Given the description of an element on the screen output the (x, y) to click on. 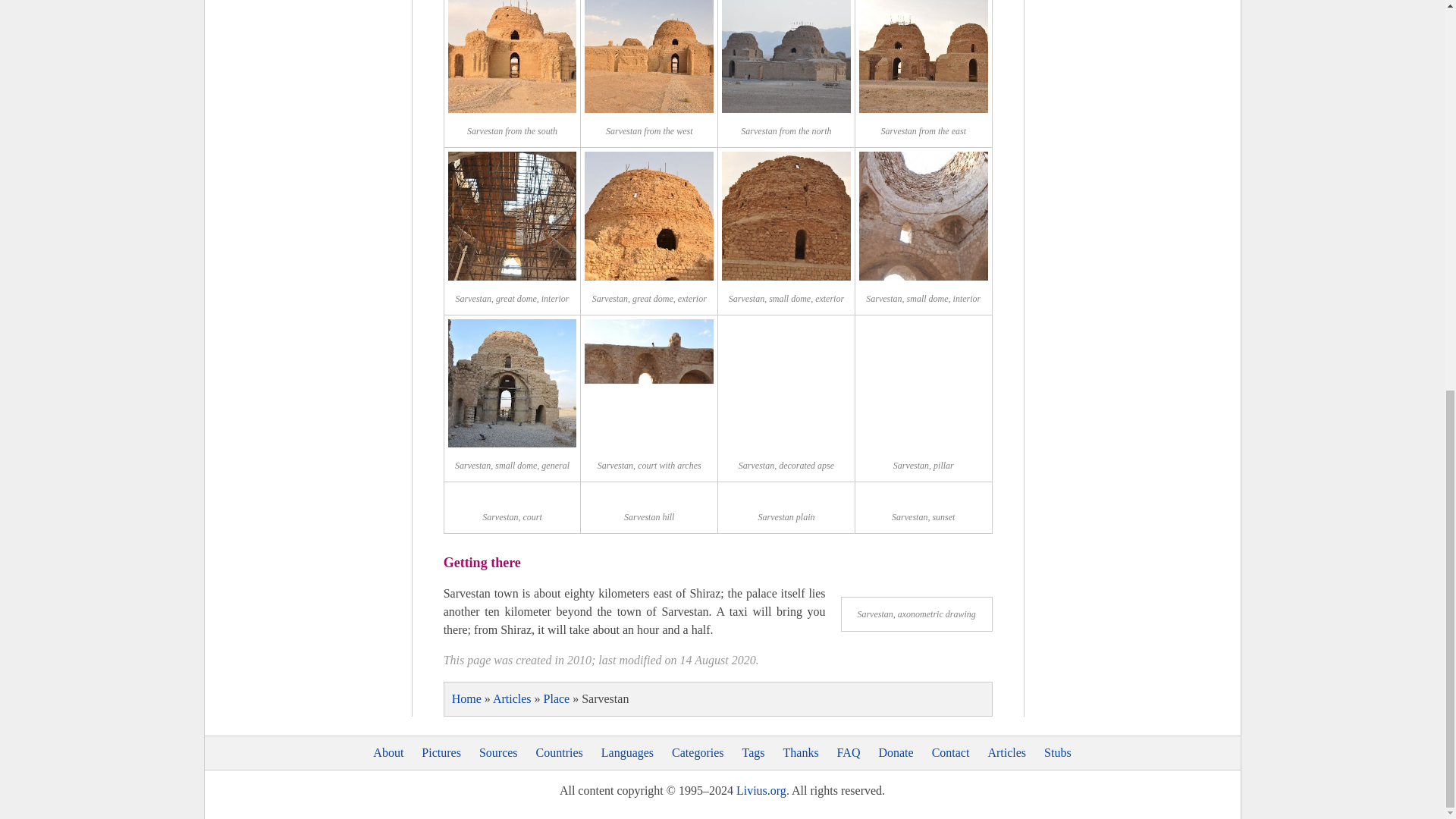
Place (556, 698)
Home (466, 698)
Articles (512, 698)
